Given the description of an element on the screen output the (x, y) to click on. 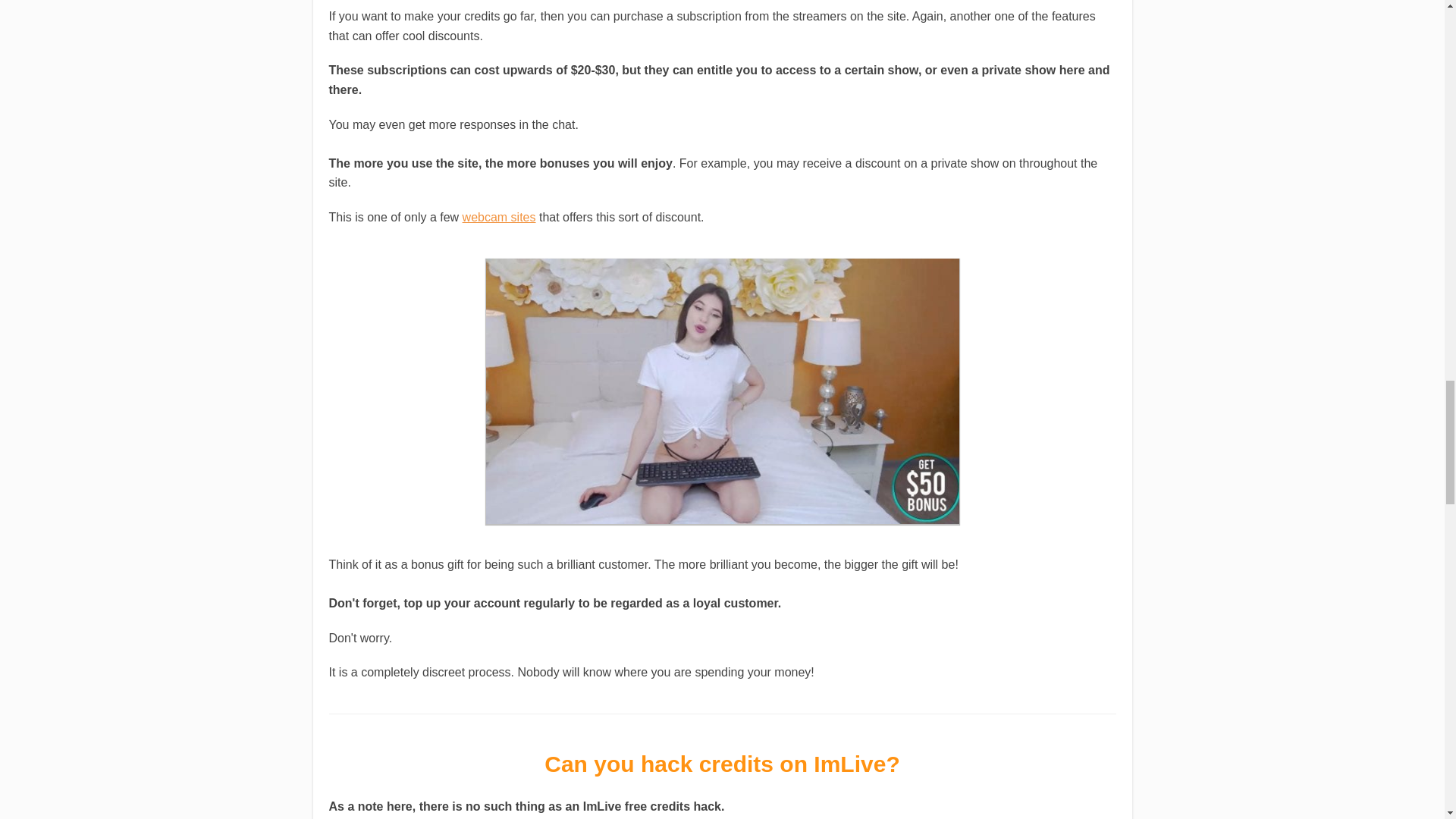
webcam sites (499, 216)
ImLive models offers private chat for extra credits (721, 391)
